Given the description of an element on the screen output the (x, y) to click on. 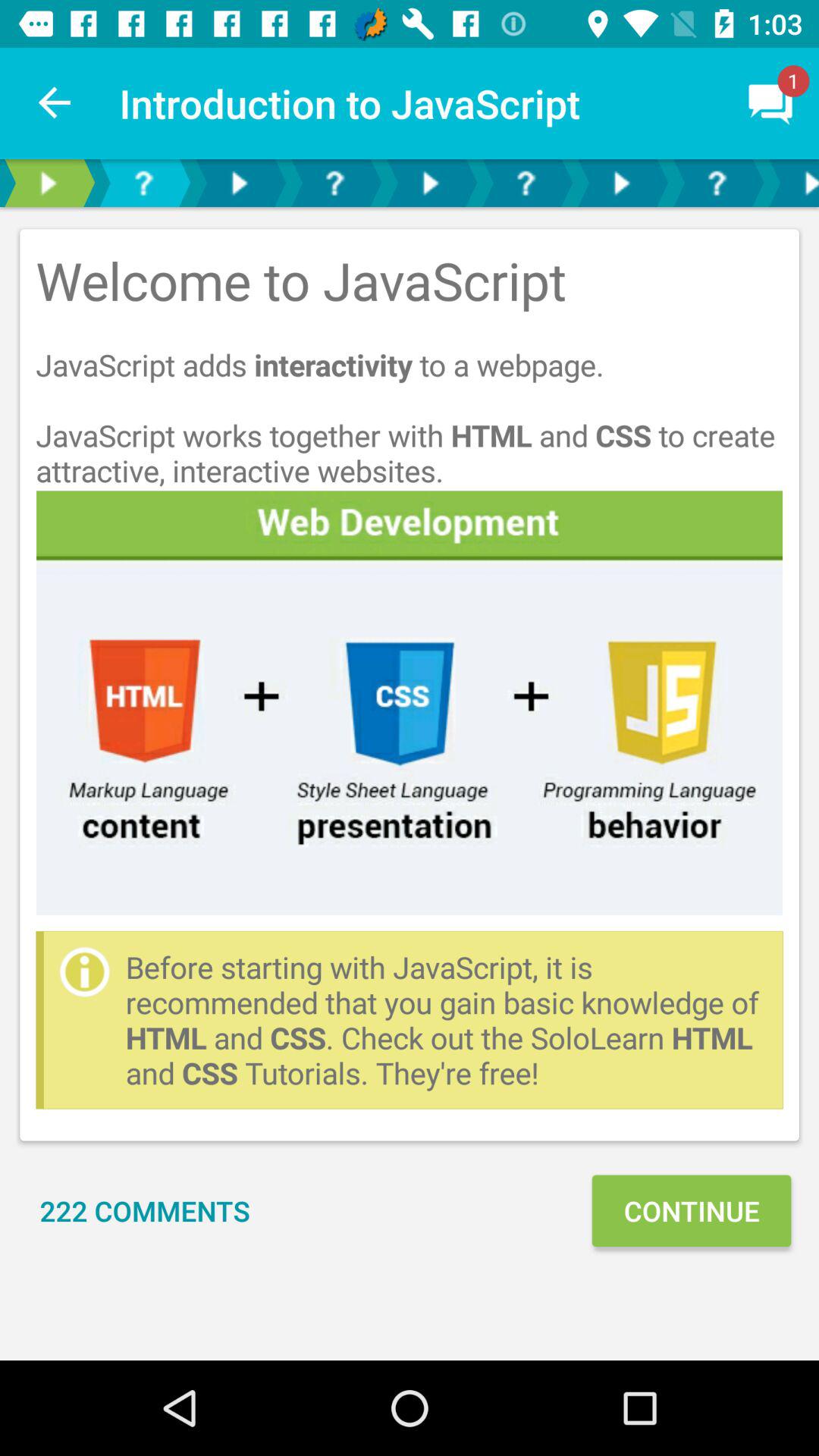
go to next page (238, 183)
